Given the description of an element on the screen output the (x, y) to click on. 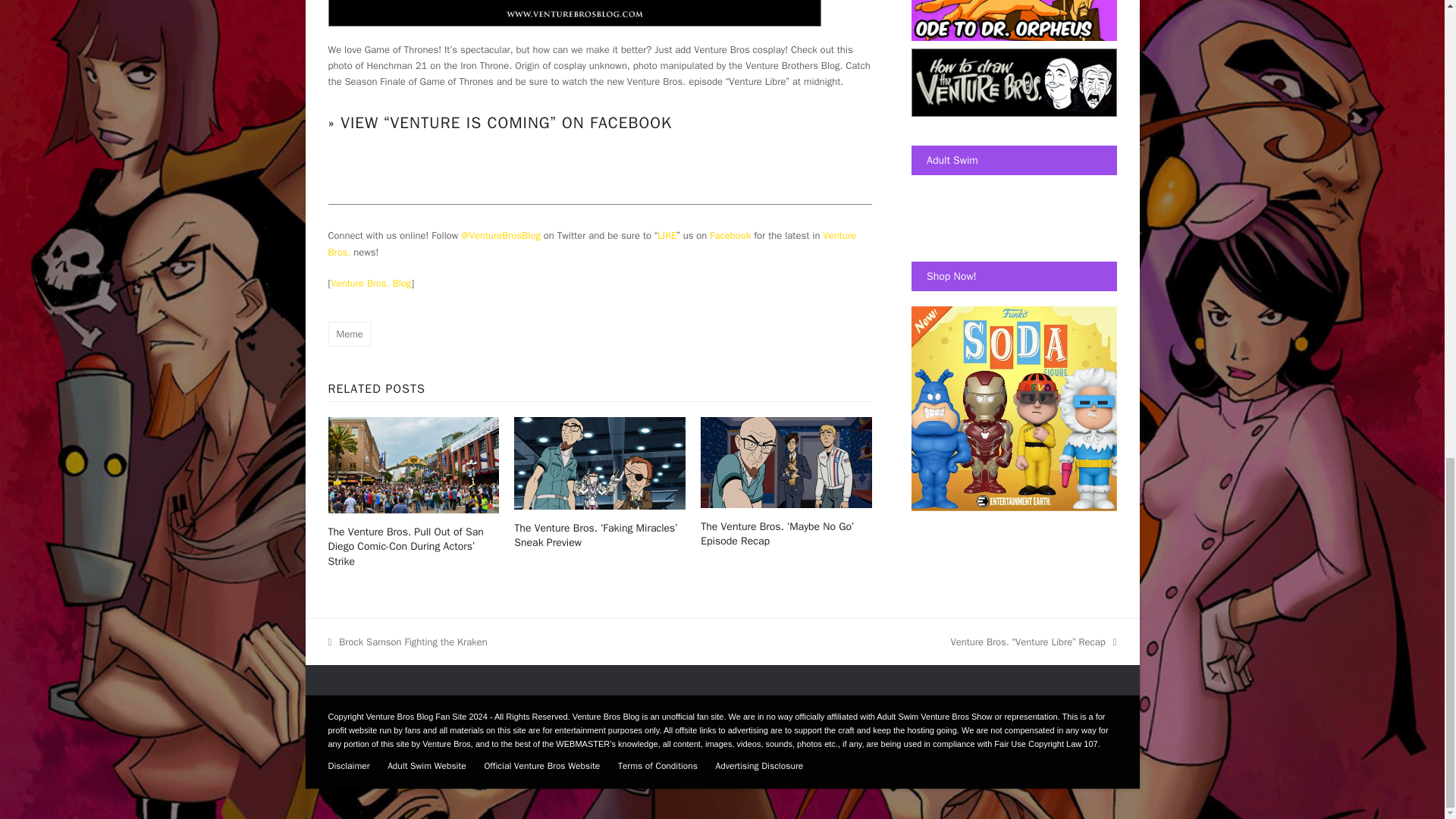
LIKE (667, 235)
Facebook (730, 235)
Venture Is Coming Tonight at Midnight 1 (574, 13)
Watch The Venture Bros. on AdultSwim.com (935, 197)
